Given the description of an element on the screen output the (x, y) to click on. 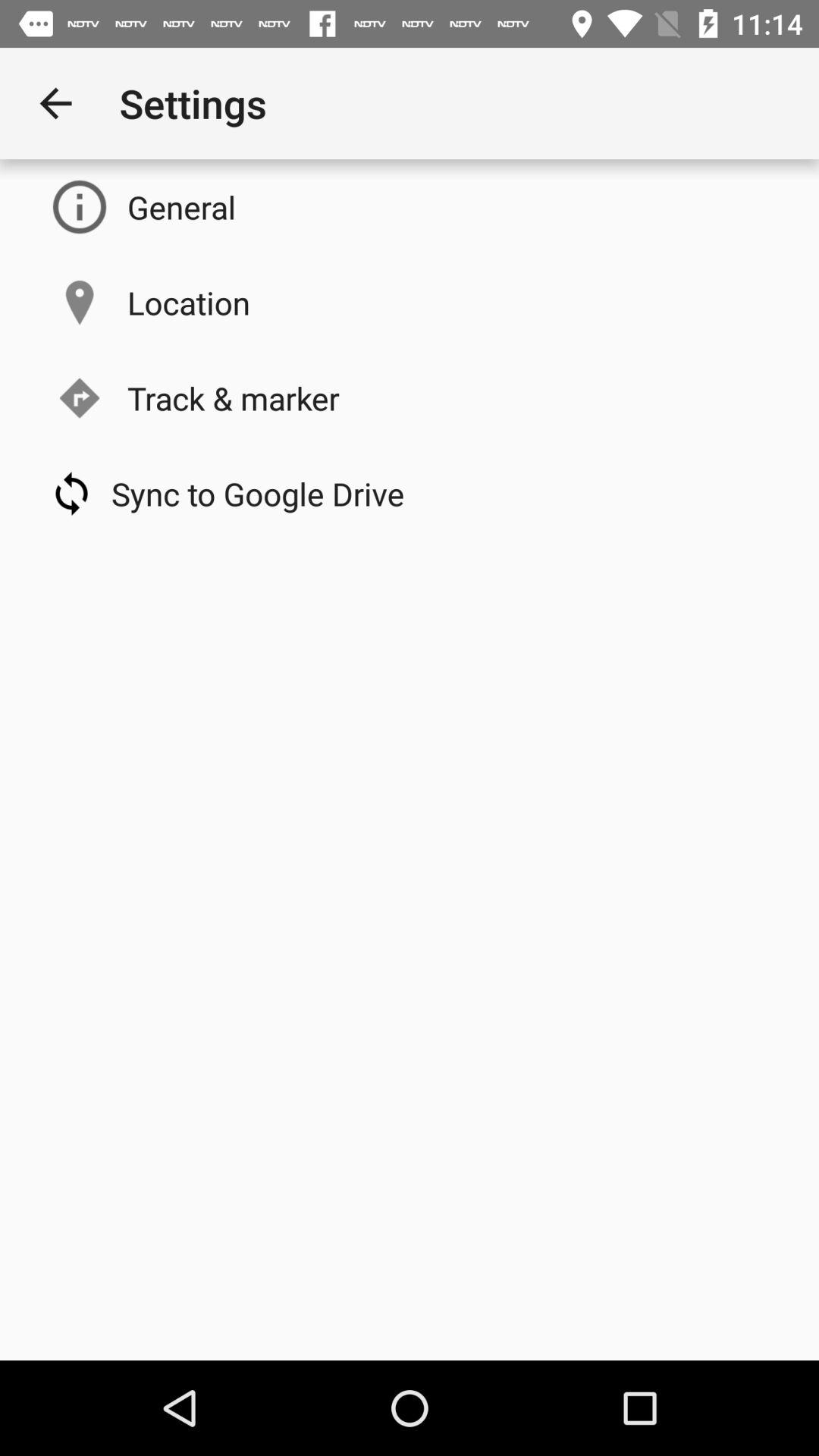
open the item next to the settings app (55, 103)
